Given the description of an element on the screen output the (x, y) to click on. 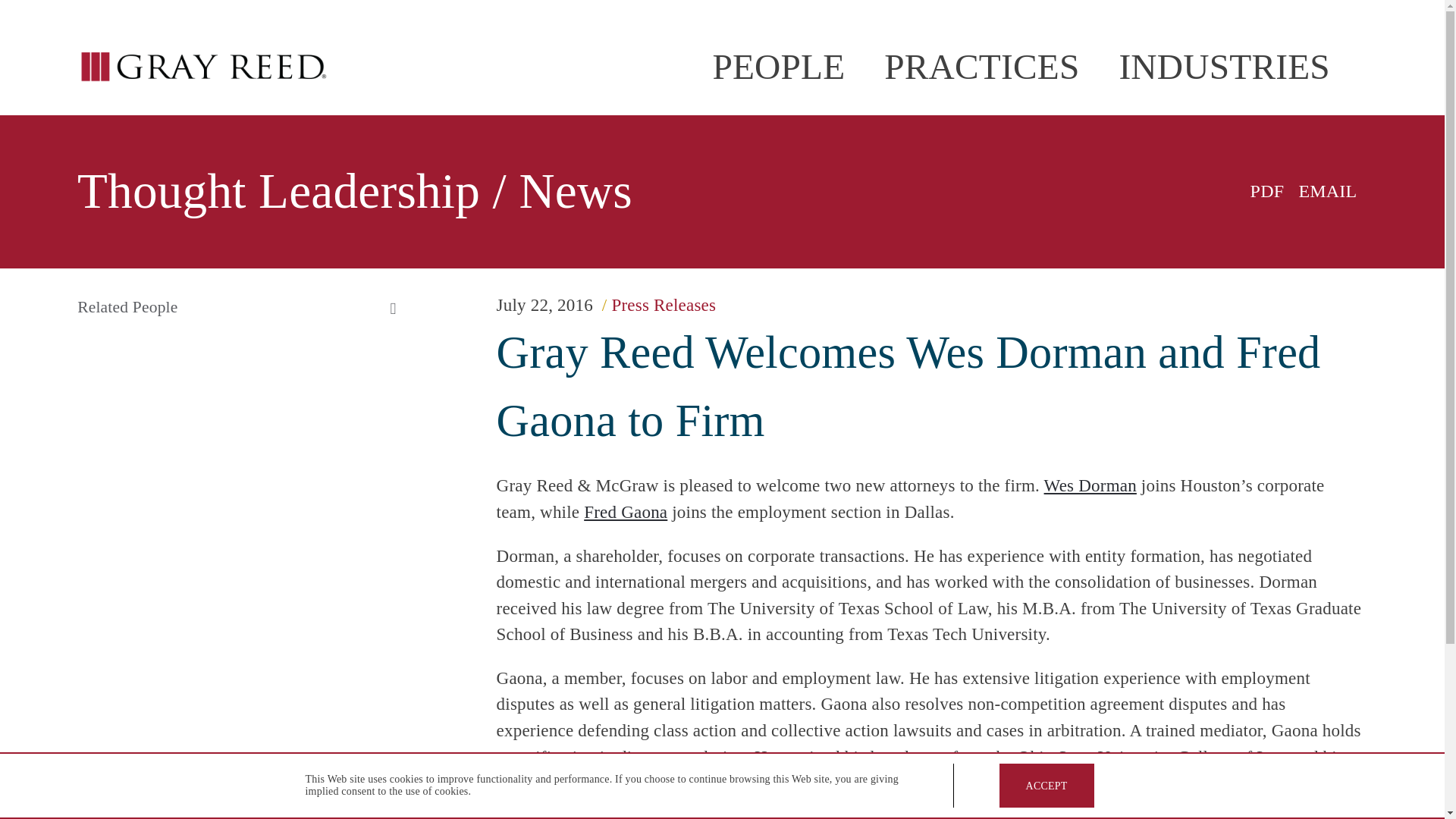
Email (1320, 190)
PEOPLE (777, 67)
PDF (1260, 190)
PRACTICES (980, 67)
website search (1358, 47)
